Given the description of an element on the screen output the (x, y) to click on. 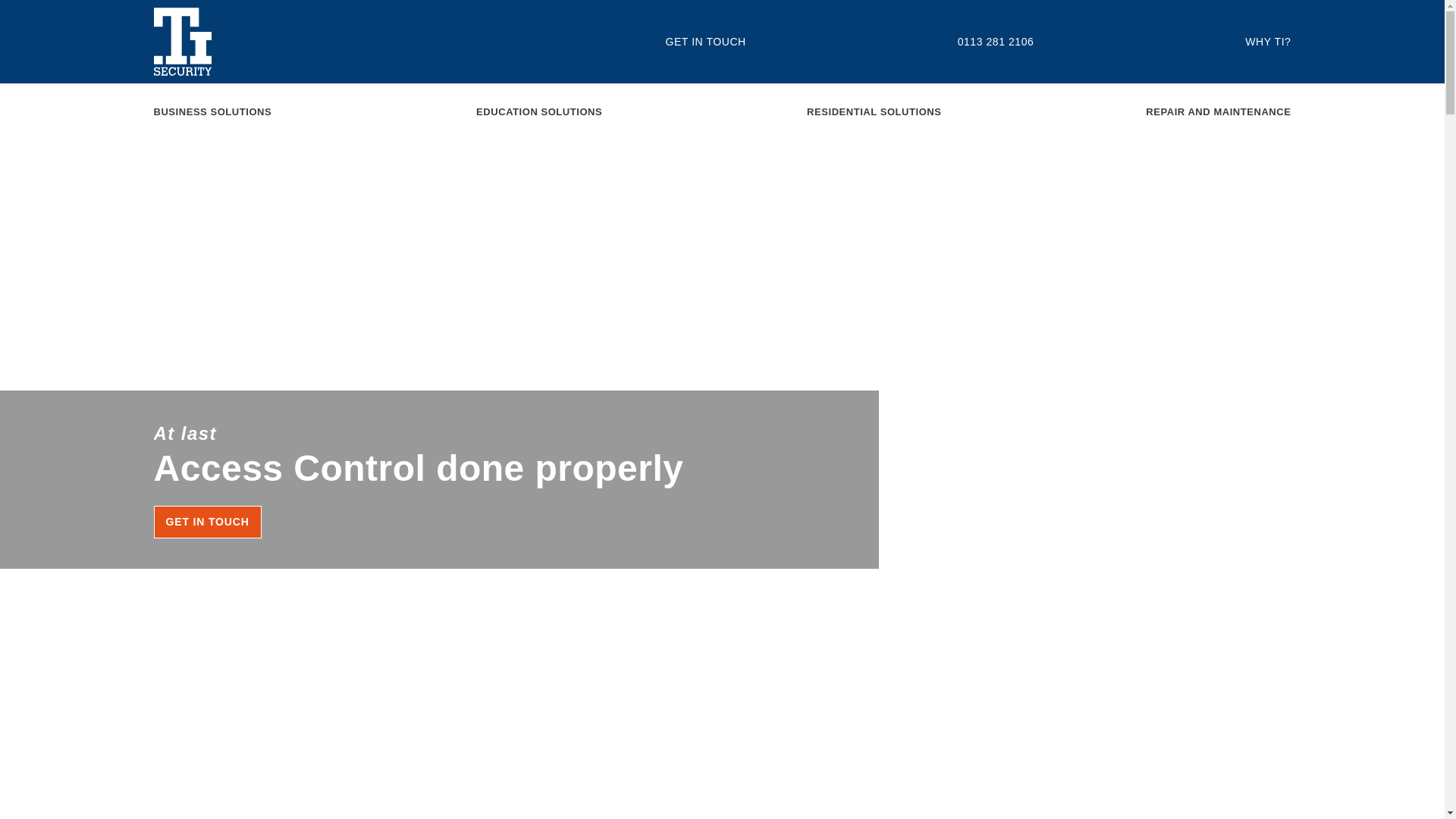
0113 281 2106 (995, 41)
RESIDENTIAL SOLUTIONS (873, 111)
EDUCATION SOLUTIONS (539, 111)
BUSINESS SOLUTIONS (211, 111)
GET IN TOUCH (206, 522)
GET IN TOUCH (705, 41)
REPAIR AND MAINTENANCE (1217, 111)
WHY TI? (1267, 41)
